Given the description of an element on the screen output the (x, y) to click on. 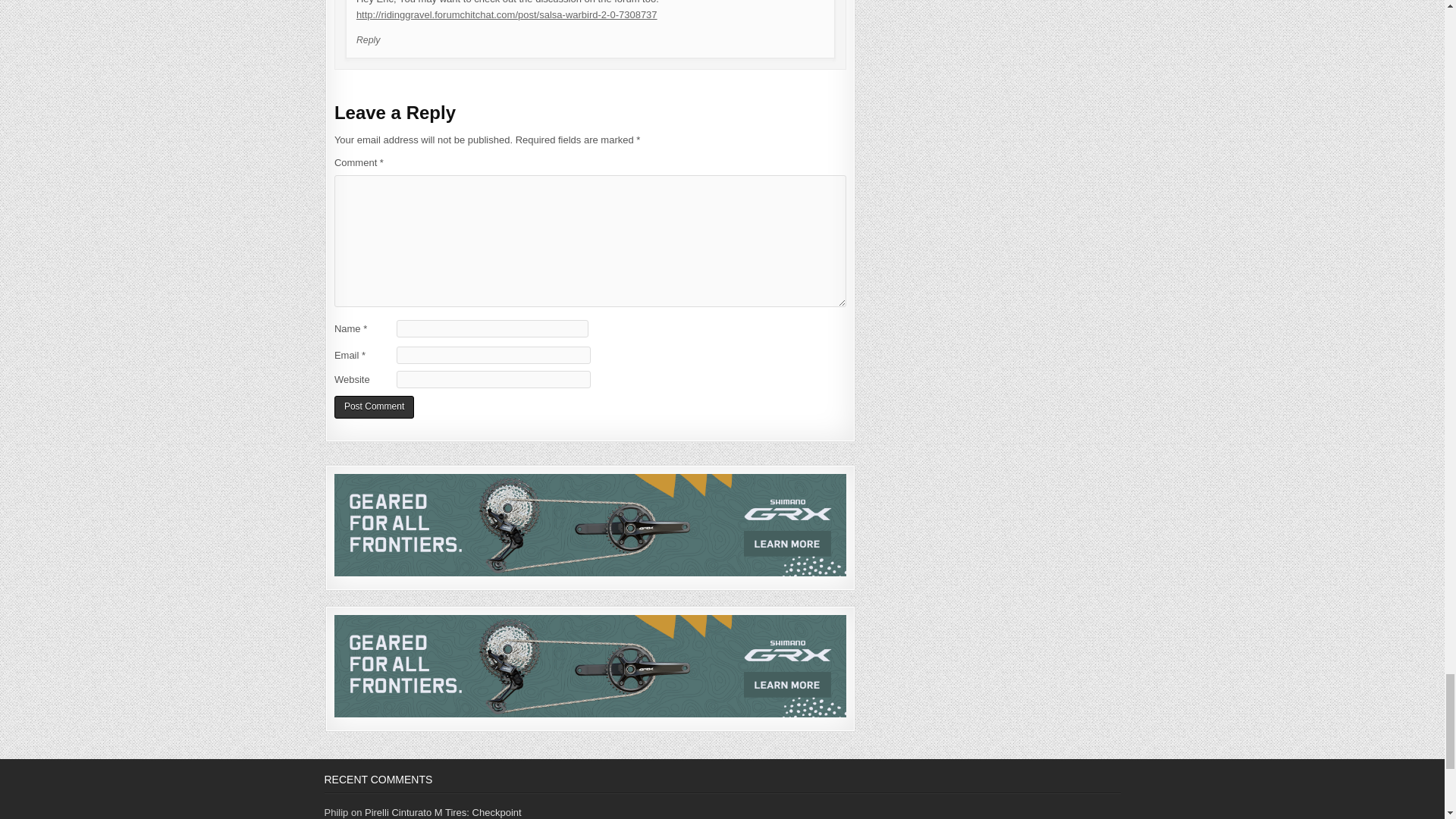
Post Comment (373, 407)
